Given the description of an element on the screen output the (x, y) to click on. 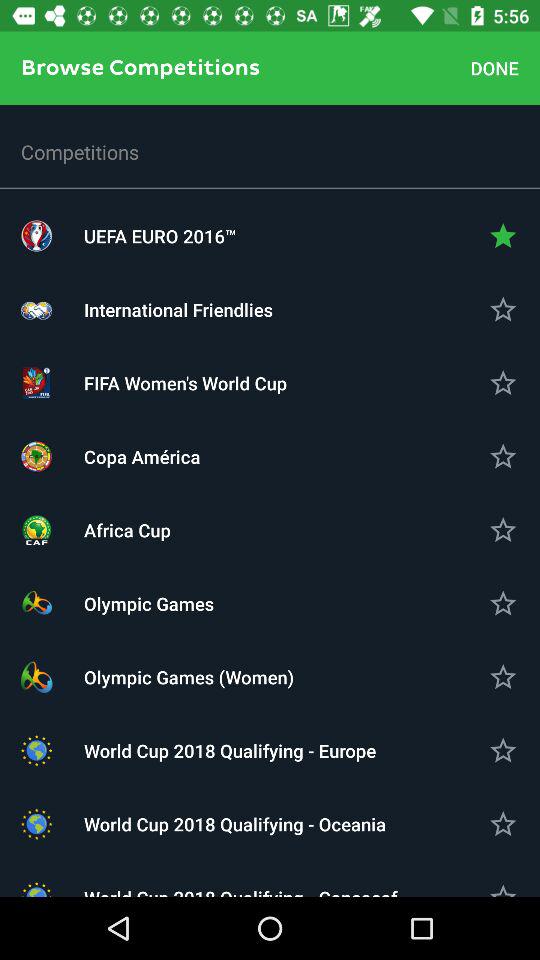
select item above olympic games (270, 529)
